Given the description of an element on the screen output the (x, y) to click on. 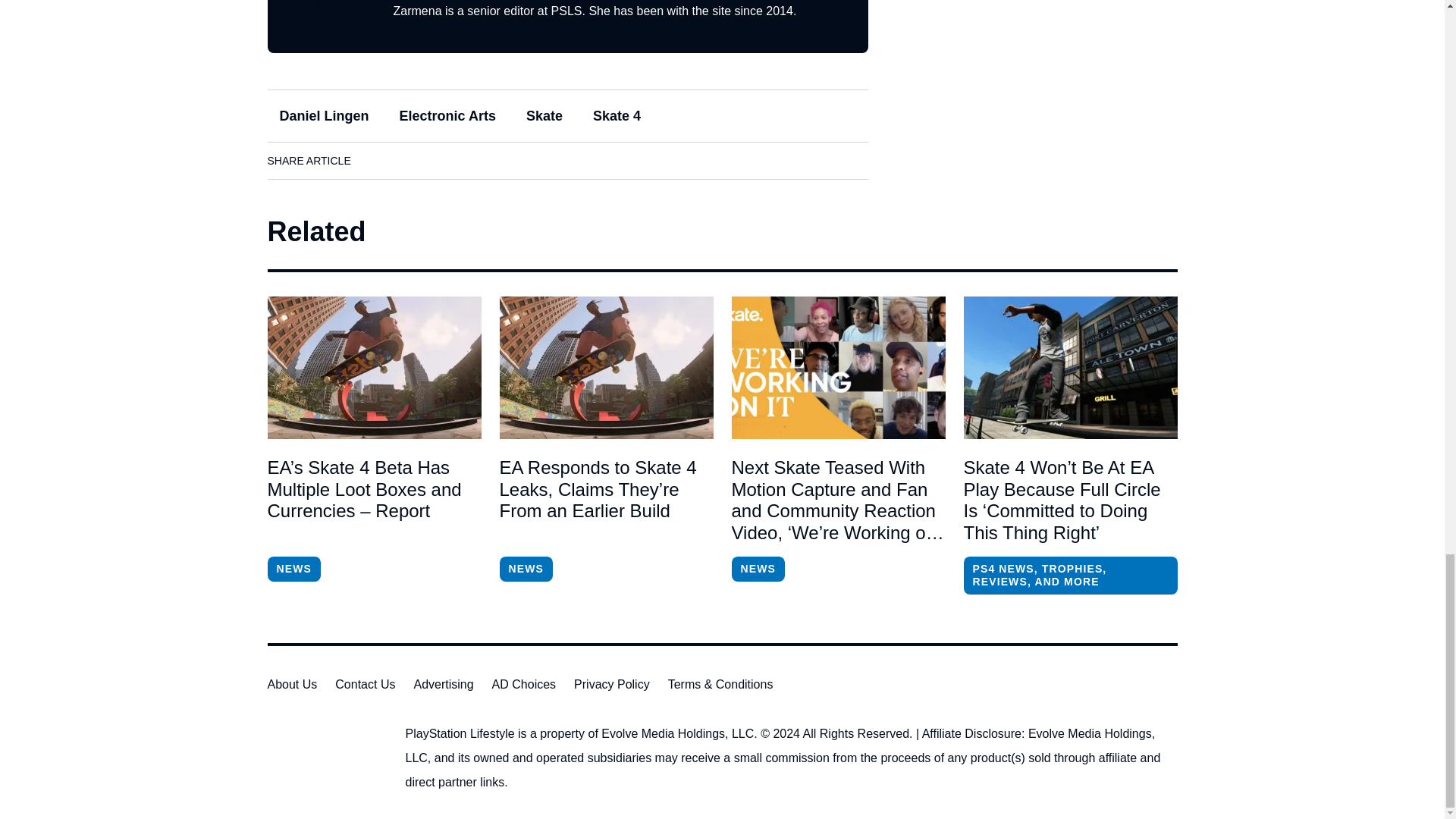
LinkedIn (420, 160)
Pinterest (505, 160)
Facebook (377, 160)
Twitter (463, 160)
Electronic Arts (447, 115)
Skate 4 (616, 115)
Daniel Lingen (323, 115)
Skate (544, 115)
